Given the description of an element on the screen output the (x, y) to click on. 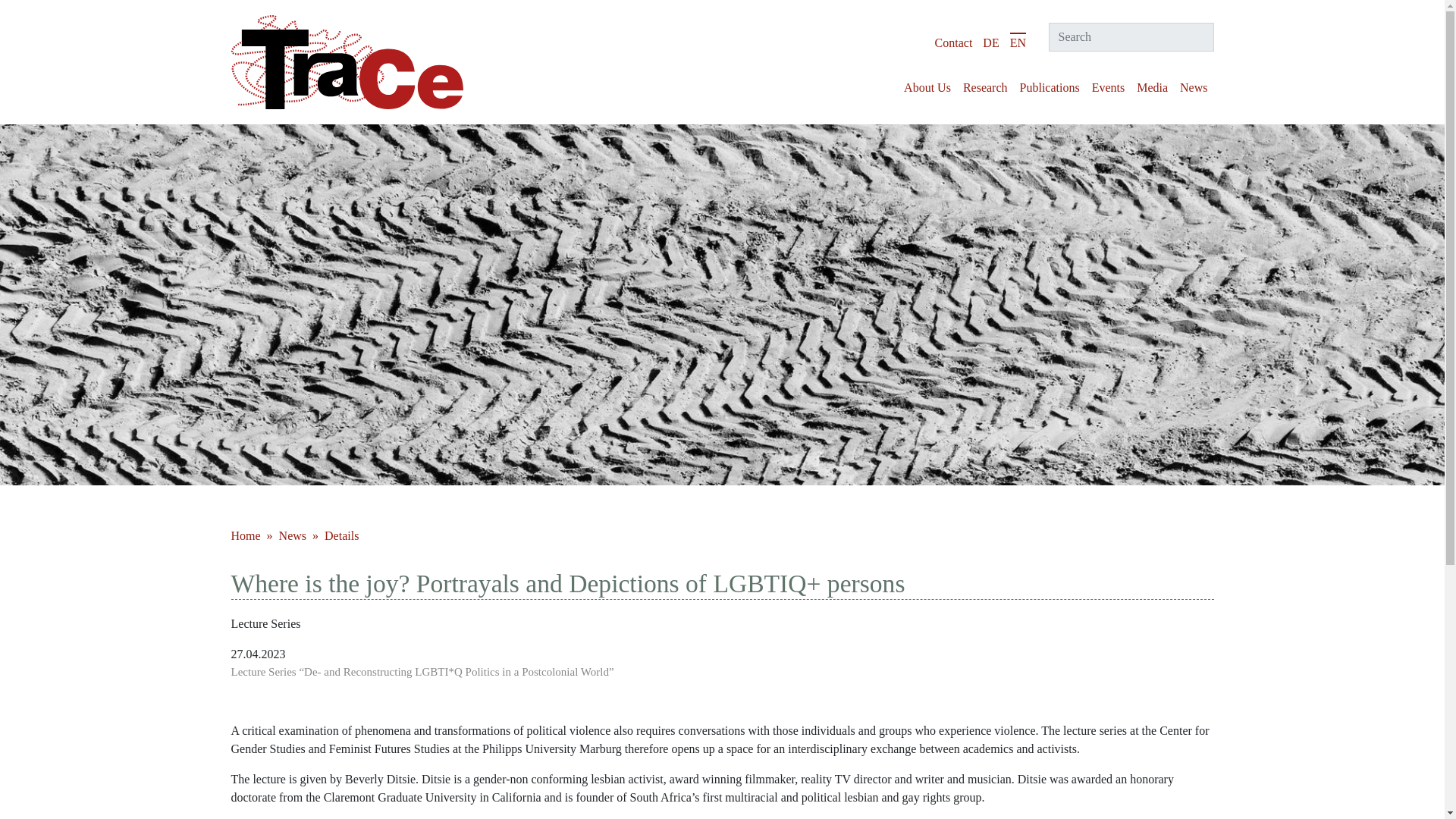
Contact (953, 42)
Media (1152, 87)
Englisch (1018, 42)
About Us (927, 87)
DE (990, 42)
Research (984, 87)
Publications (1049, 87)
Contact (953, 42)
Home (246, 535)
Deutsch (990, 42)
News (1192, 87)
Events (1108, 87)
EN (1018, 42)
Publications (1049, 87)
